Given the description of an element on the screen output the (x, y) to click on. 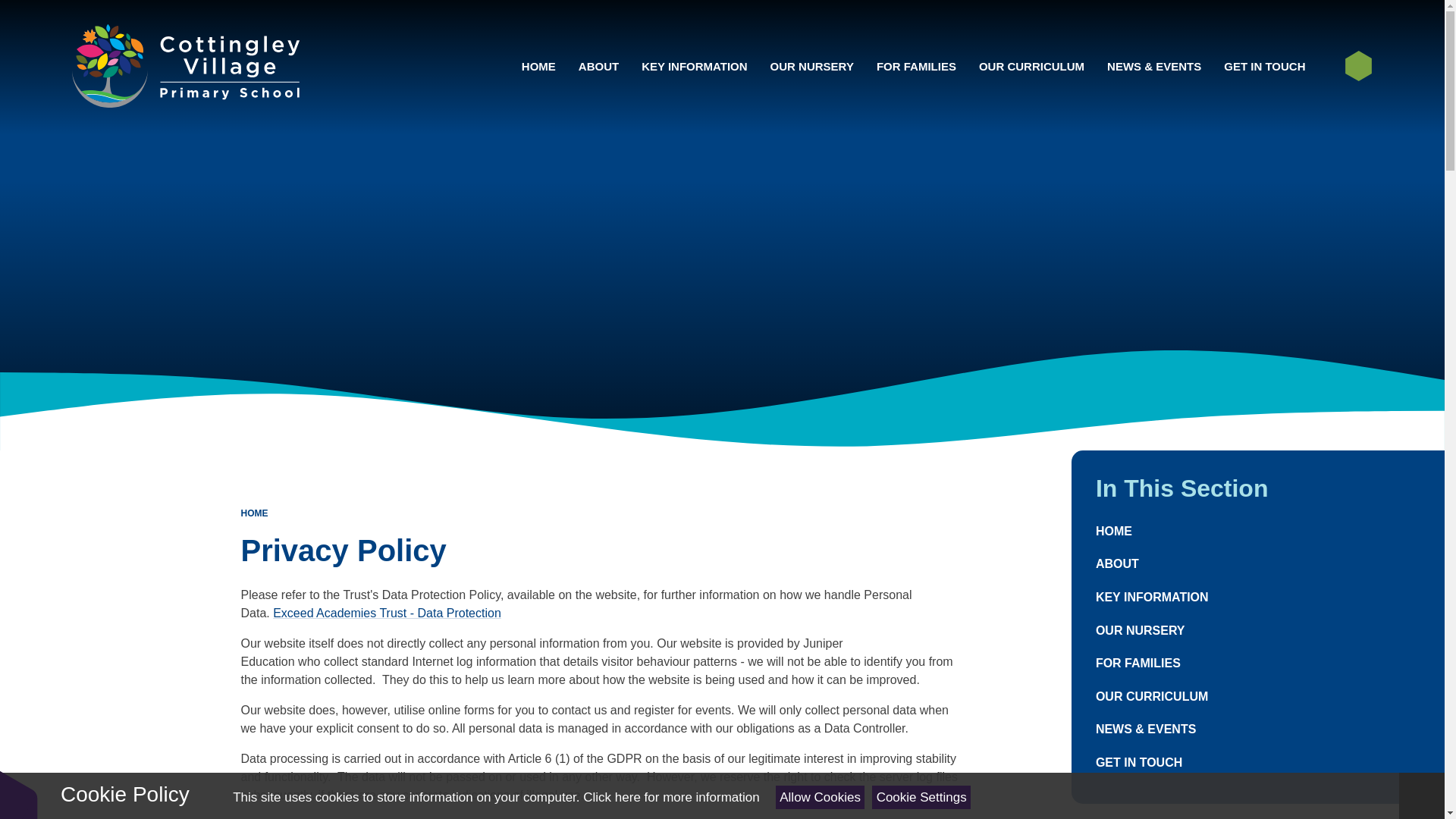
ABOUT (598, 66)
HOME (539, 66)
KEY INFORMATION (694, 66)
